Given the description of an element on the screen output the (x, y) to click on. 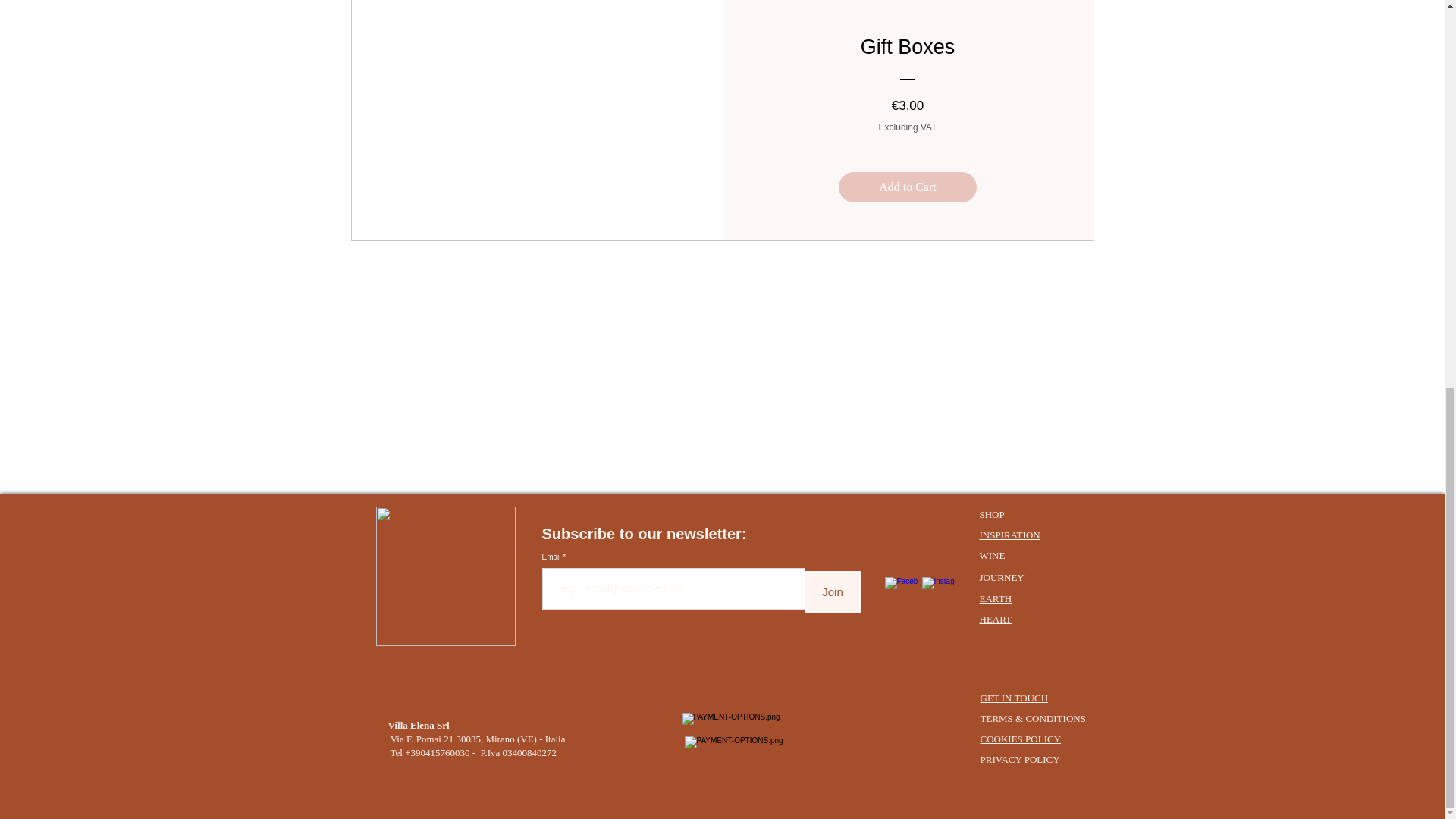
Add to Cart (907, 186)
EARTH (995, 598)
HEART (995, 618)
COOKIES POLICY (1020, 738)
Join (832, 591)
SHOP (991, 514)
PRIVACY POLICY (1019, 758)
WINE (992, 555)
INSPIRATION (1010, 534)
JOURNEY (1002, 577)
